Given the description of an element on the screen output the (x, y) to click on. 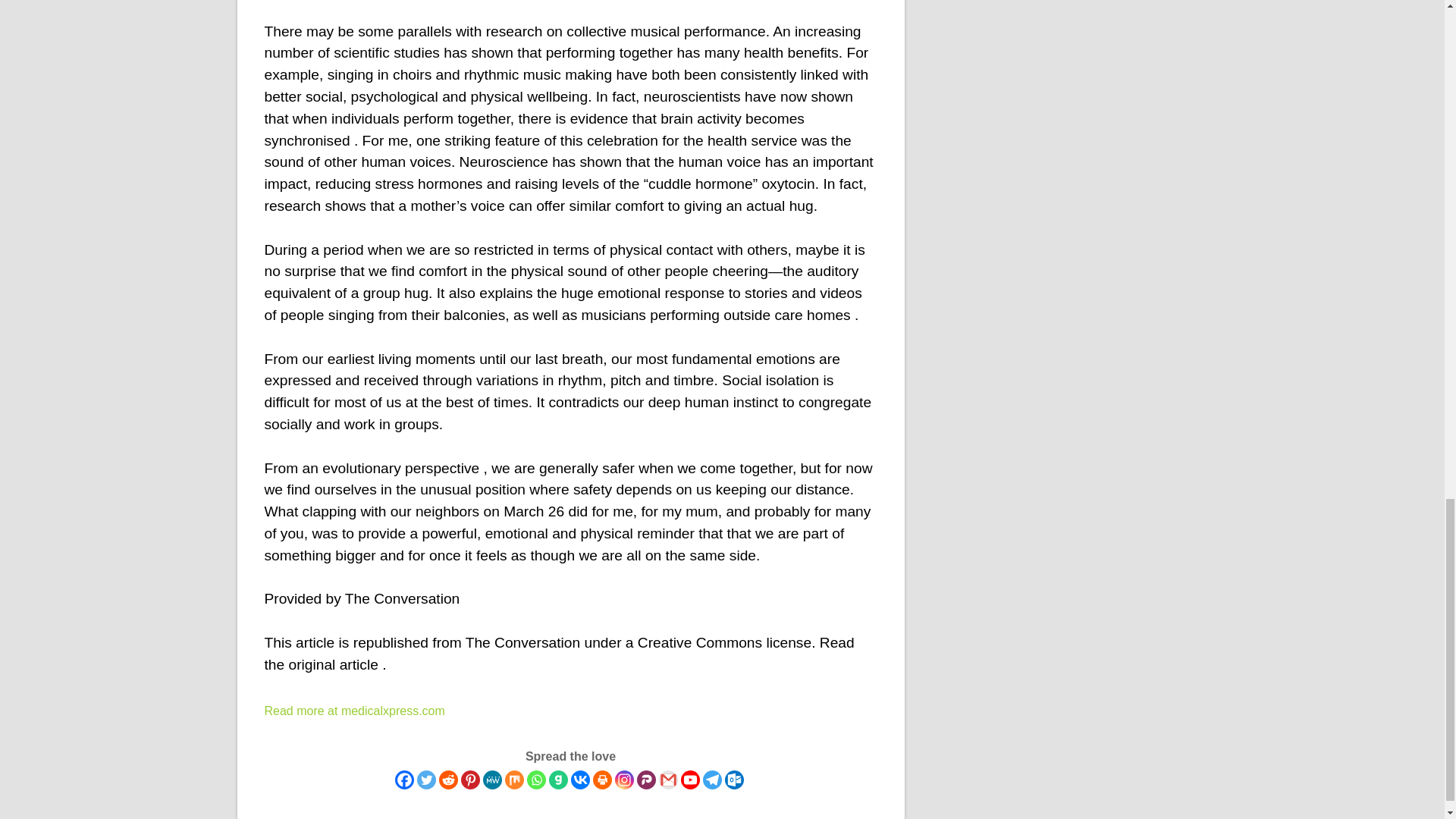
Twitter (425, 779)
Vkontakte (579, 779)
Facebook (403, 779)
Google Gmail (667, 779)
Parler (646, 779)
MeWe (490, 779)
Instagram (623, 779)
Gab (557, 779)
Reddit (447, 779)
Whatsapp (534, 779)
Youtube (690, 779)
Print (601, 779)
Read more at medicalxpress.com (353, 710)
Mix (514, 779)
Pinterest (470, 779)
